Given the description of an element on the screen output the (x, y) to click on. 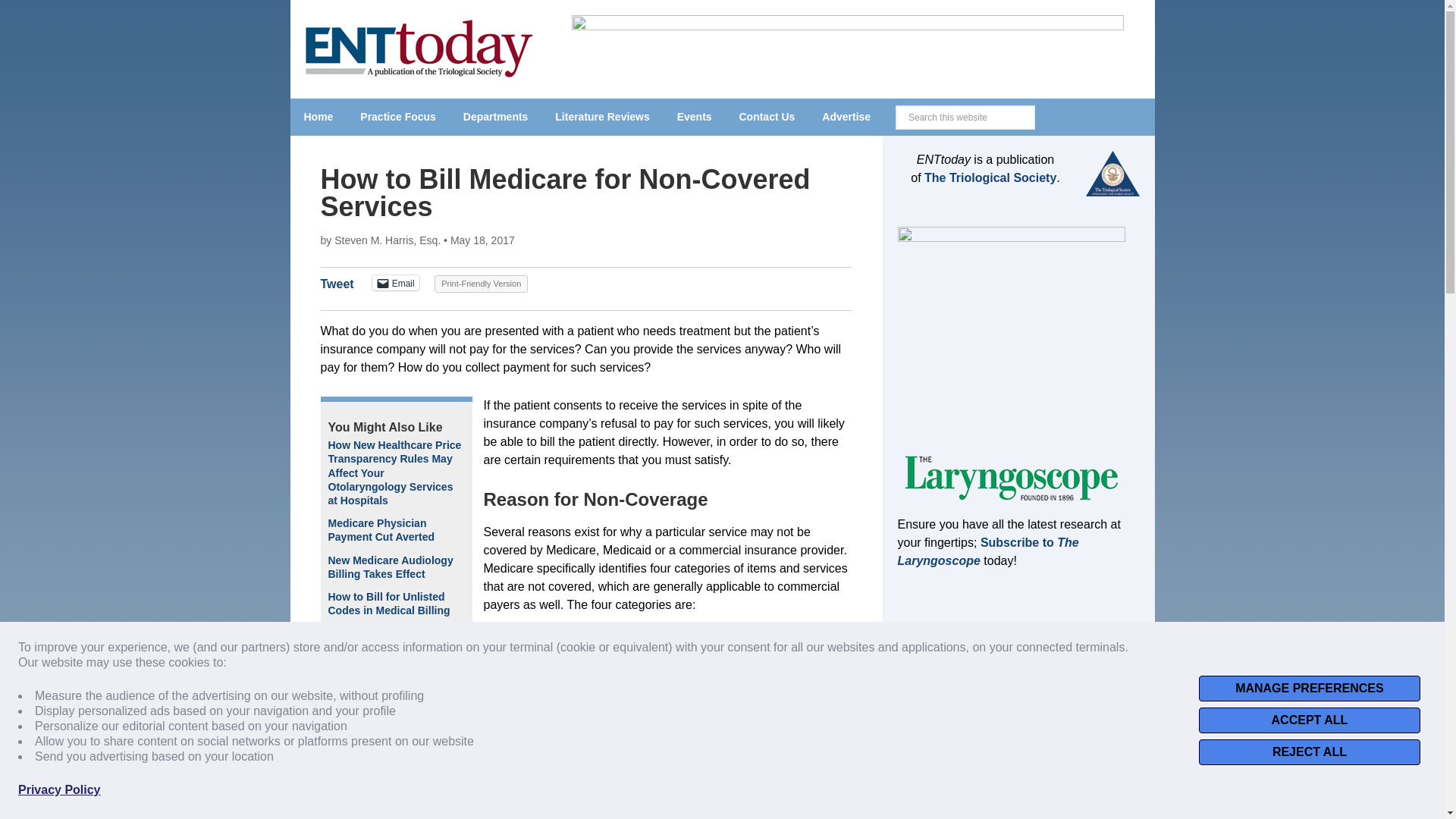
Privacy Policy (58, 789)
ENTtoday (418, 45)
Search (1045, 110)
Click to email a link to a friend (395, 282)
REJECT ALL (1309, 751)
ENTtoday (418, 72)
Departments (495, 116)
MANAGE PREFERENCES (1309, 688)
Search (1045, 110)
ACCEPT ALL (1309, 720)
Home (317, 116)
Practice Focus (397, 116)
